Given the description of an element on the screen output the (x, y) to click on. 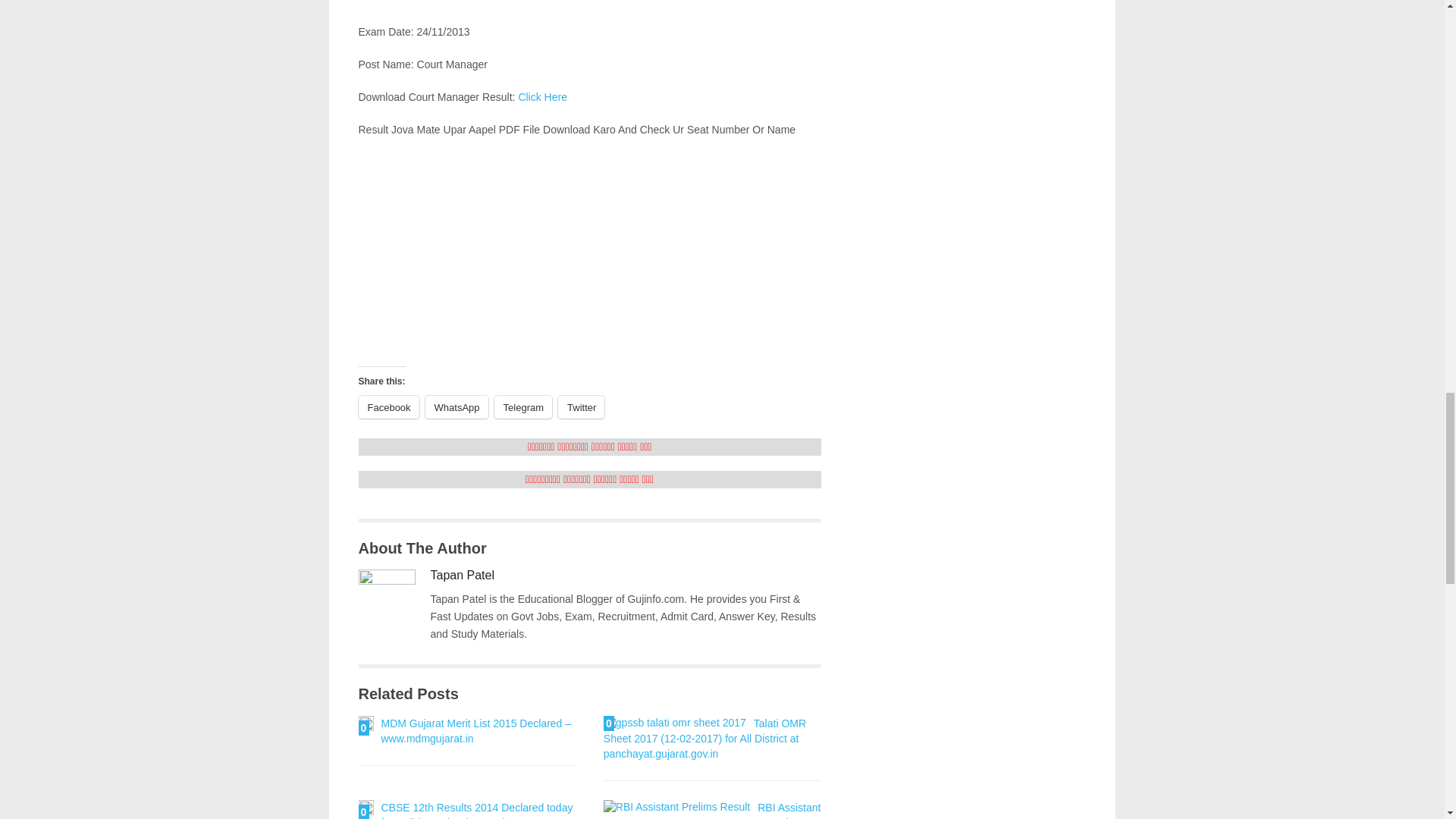
Click to share on Facebook (388, 406)
Click to share on WhatsApp (456, 406)
Click to share on Telegram (523, 406)
Click to share on Twitter (580, 406)
